Given the description of an element on the screen output the (x, y) to click on. 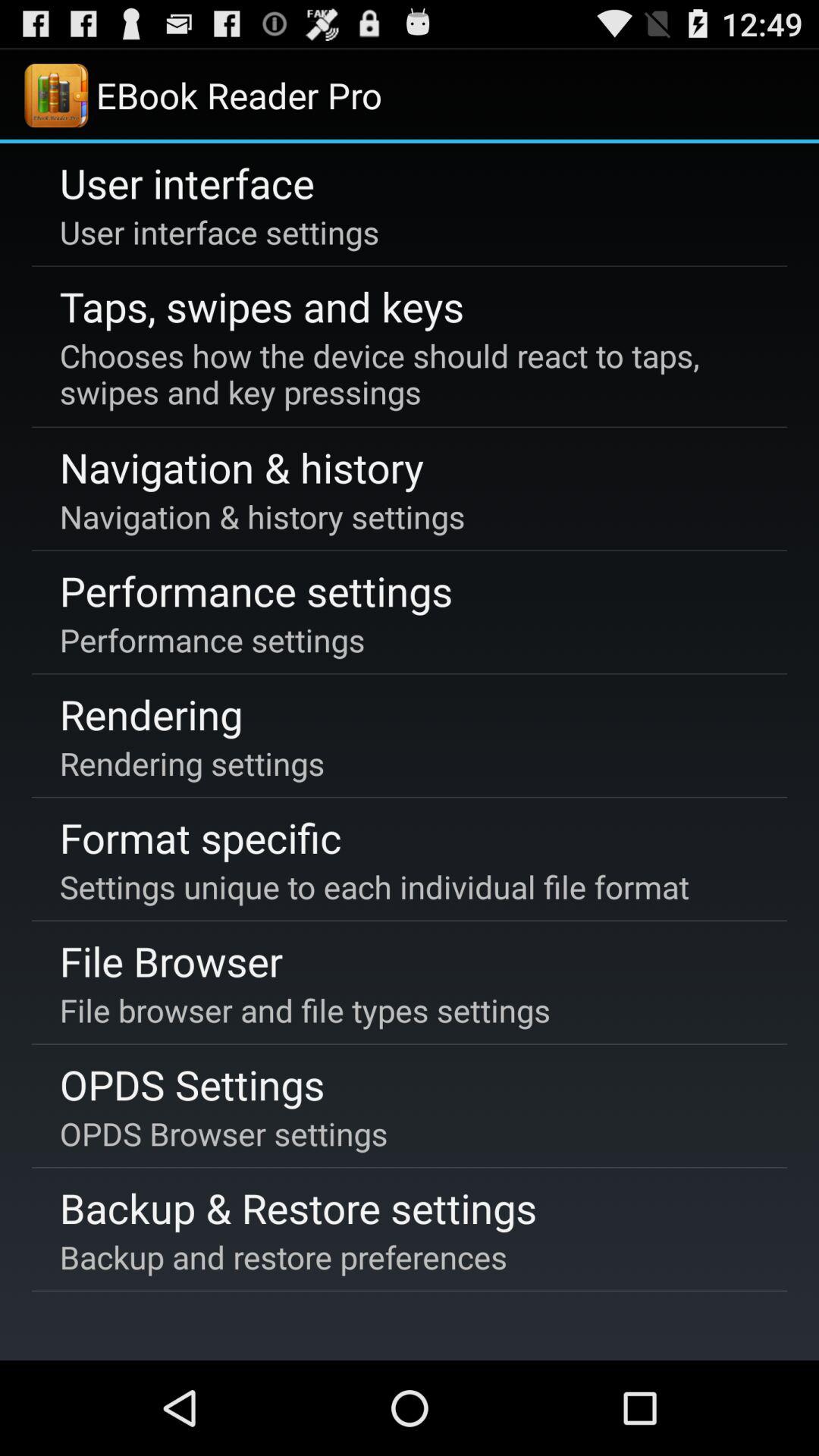
scroll to the chooses how the icon (407, 373)
